Given the description of an element on the screen output the (x, y) to click on. 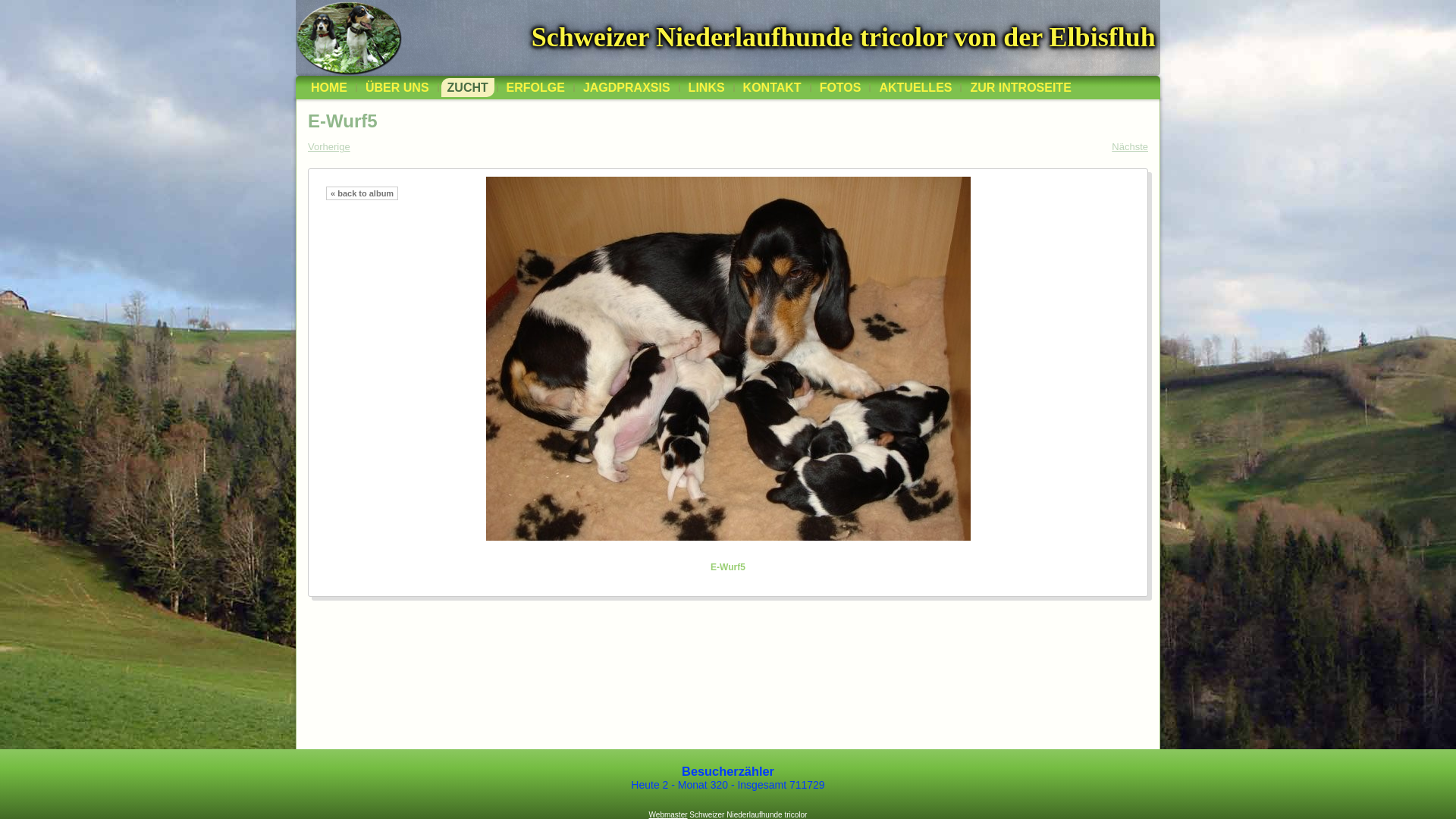
AKTUELLES Element type: text (914, 87)
ZUR INTROSEITE Element type: text (1019, 87)
KONTAKT Element type: text (772, 87)
HOME Element type: text (328, 87)
JAGDPRAXSIS Element type: text (626, 87)
ZUCHT Element type: text (467, 87)
ERFOLGE Element type: text (535, 87)
LINKS Element type: text (706, 87)
E-Wurf5 Element type: hover (727, 358)
Schweizer Niederlaufhunde tricolor von der Elbisfluh Element type: text (843, 36)
FOTOS Element type: text (840, 87)
Vorherige Element type: text (328, 146)
